Given the description of an element on the screen output the (x, y) to click on. 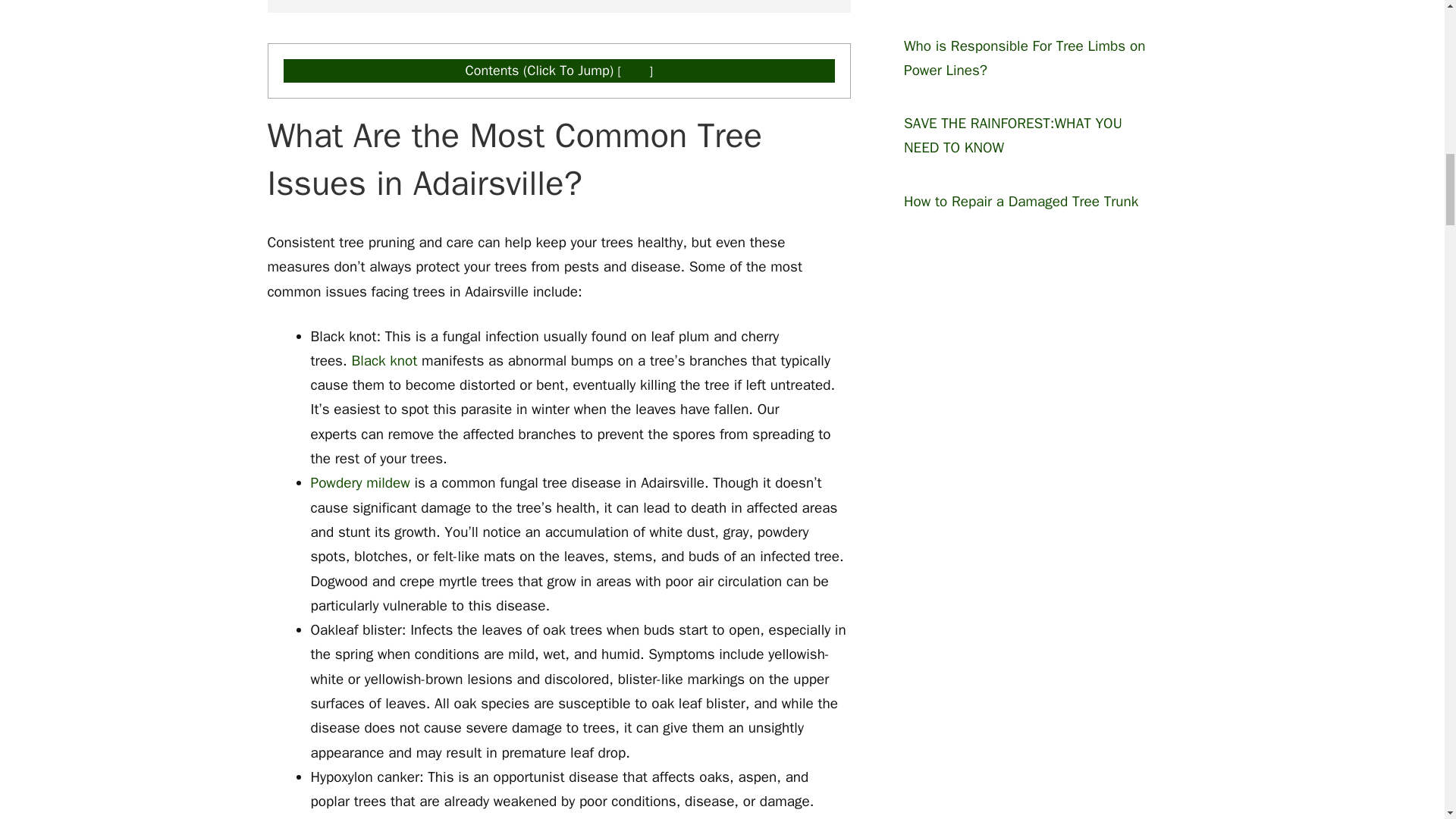
SAVE THE RAINFOREST:WHAT YOU NEED TO KNOW (1013, 135)
How to Repair a Damaged Tree Trunk (1021, 201)
Who is Responsible For Tree Limbs on Power Lines? (1024, 57)
Powdery mildew (360, 483)
Black knot (383, 361)
show (635, 70)
